Given the description of an element on the screen output the (x, y) to click on. 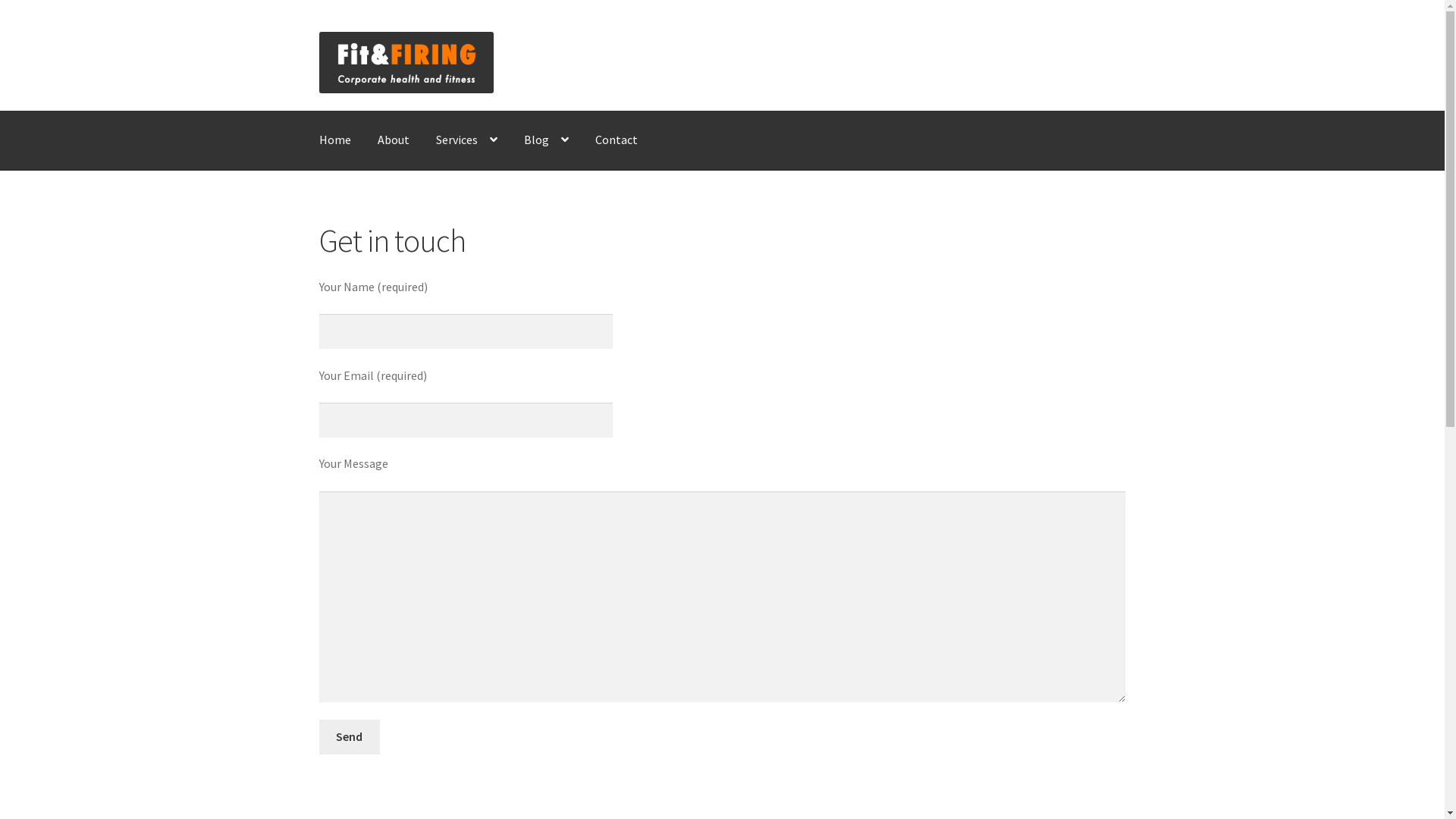
Skip to navigation Element type: text (318, 31)
About Element type: text (393, 139)
Send Element type: text (349, 736)
Contact Element type: text (616, 139)
Blog Element type: text (545, 139)
Home Element type: text (335, 139)
Services Element type: text (466, 139)
